Given the description of an element on the screen output the (x, y) to click on. 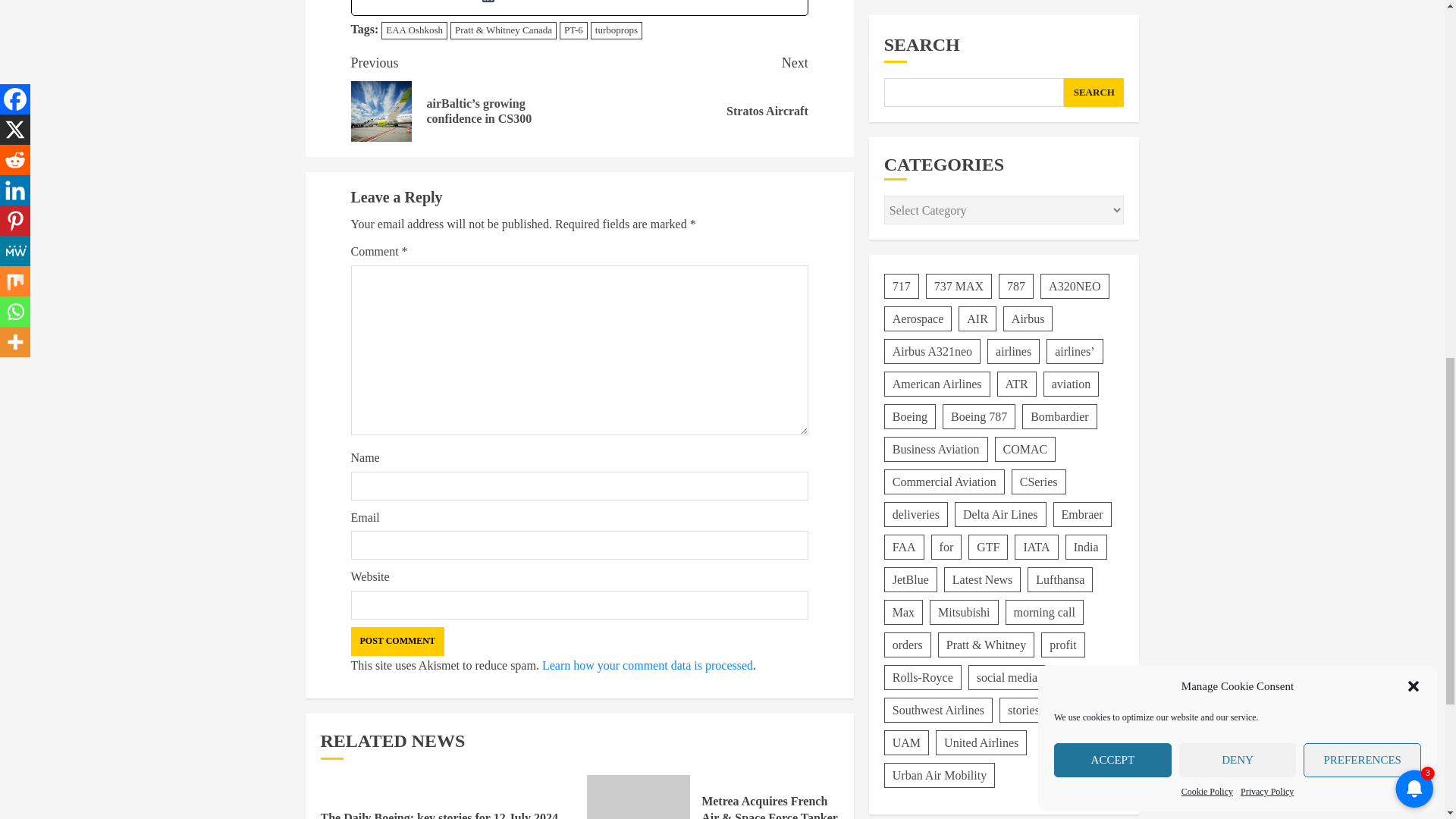
Post Comment (397, 641)
